Given the description of an element on the screen output the (x, y) to click on. 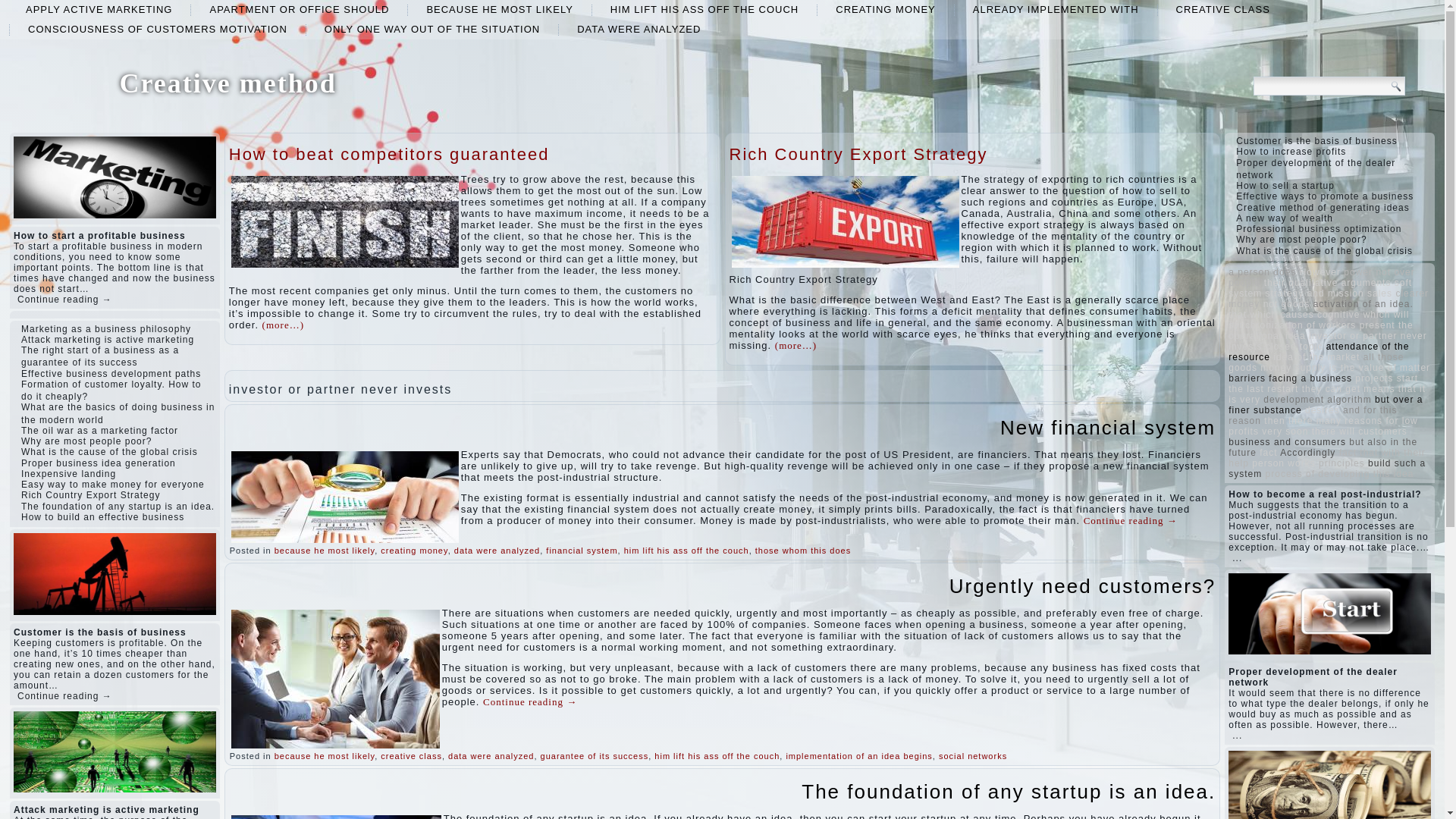
The oil war as a marketing factor (99, 430)
Why are most people poor? (86, 440)
Effective business development paths (110, 373)
data were analyzed (638, 29)
APARTMENT OR OFFICE SHOULD (299, 9)
because he most likely (324, 550)
The foundation of any startup is an idea. (117, 506)
apartment or office should (299, 9)
Marketing as a business philosophy (105, 328)
What are the basics of doing business in the modern world (117, 413)
What are the basics of doing business in the modern world (117, 413)
The right start of a business as a guarantee of its success (100, 355)
The right start of a business as a guarantee of its success (100, 355)
Marketing as a business philosophy (105, 328)
New financial system (1107, 427)
